Given the description of an element on the screen output the (x, y) to click on. 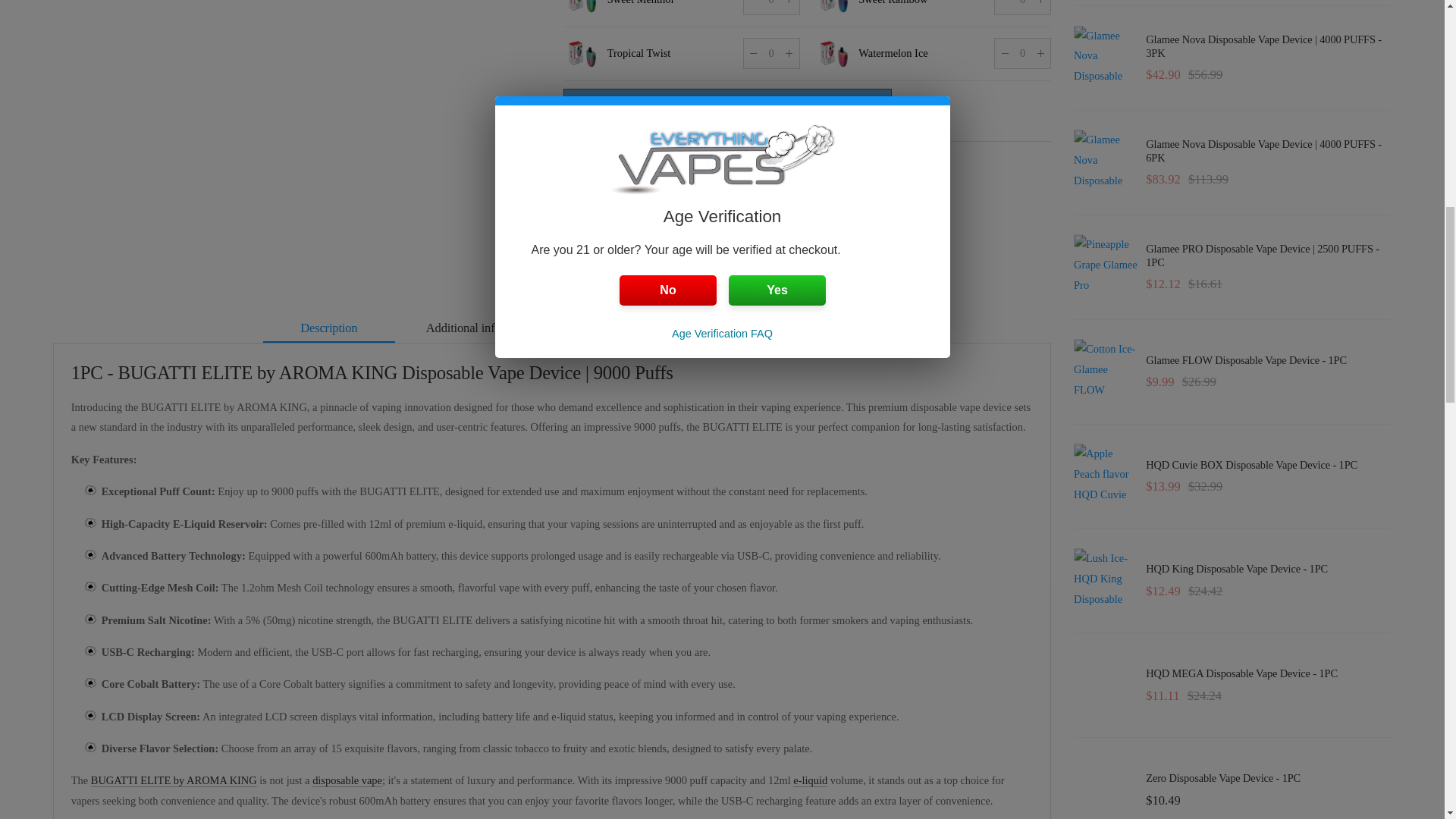
0 (1022, 53)
Visa (734, 243)
0 (770, 53)
0 (1022, 7)
American Express (577, 243)
JCB (672, 243)
Discover (640, 243)
Mastercard (704, 243)
0 (770, 7)
Diners Club (609, 243)
